Given the description of an element on the screen output the (x, y) to click on. 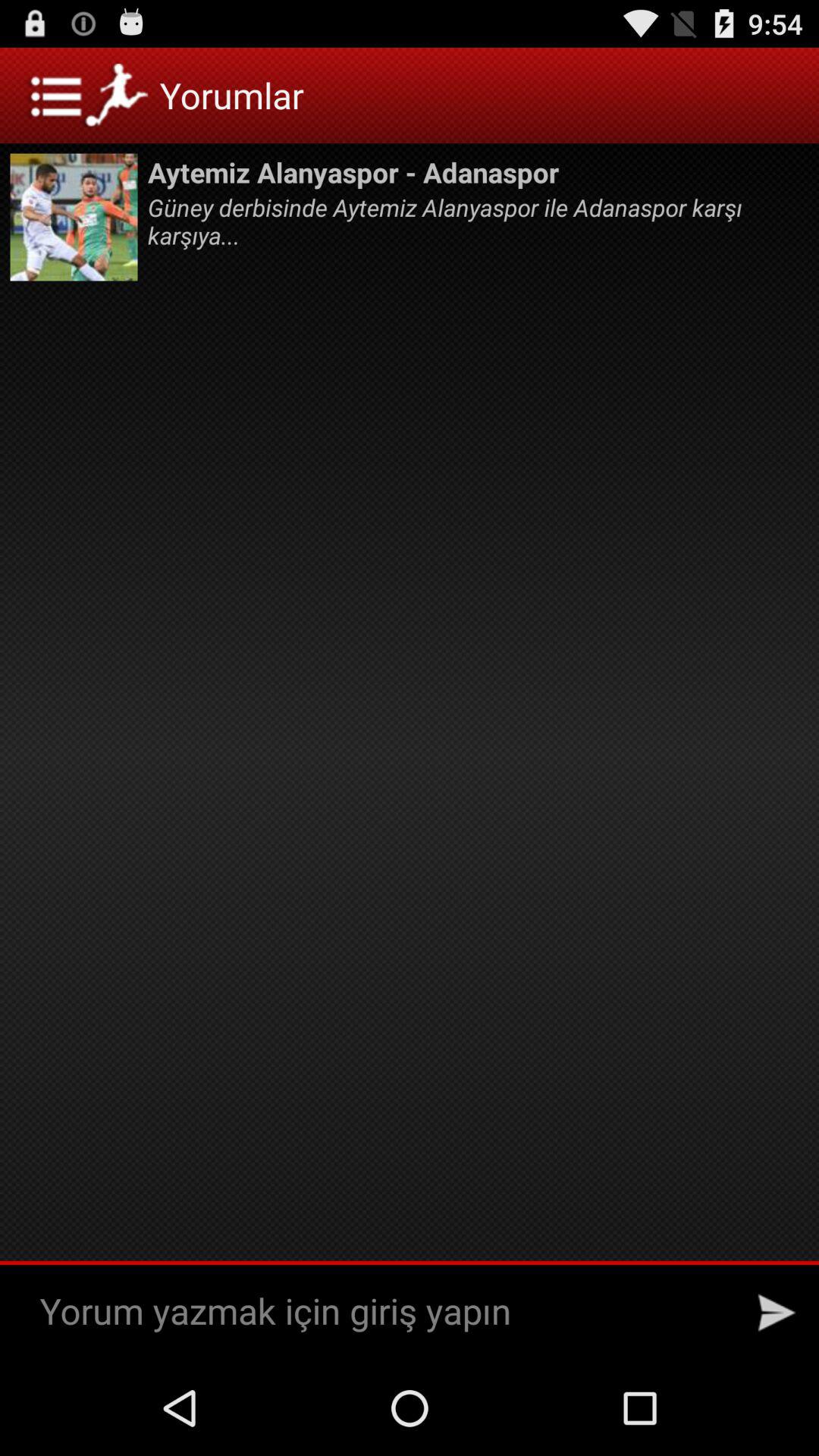
choose the button at the bottom right corner (776, 1312)
